Given the description of an element on the screen output the (x, y) to click on. 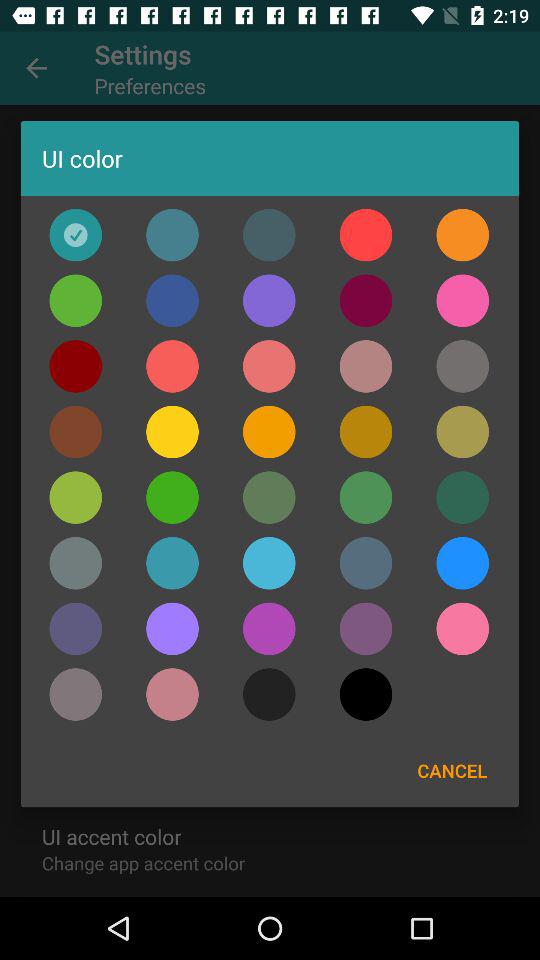
round shap (269, 563)
